Given the description of an element on the screen output the (x, y) to click on. 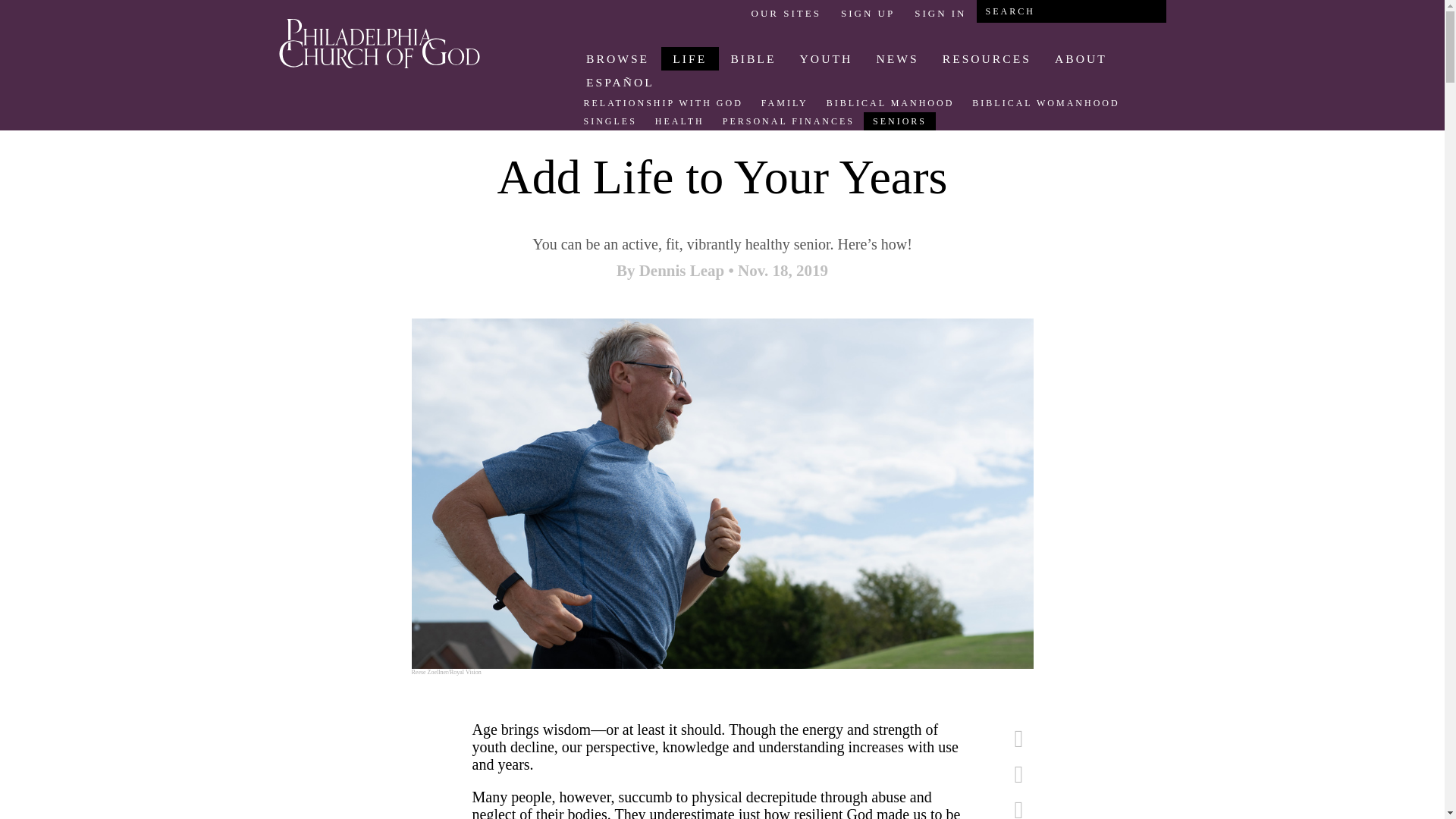
SIGN IN (939, 12)
YOUTH (825, 58)
BIBLE (753, 58)
ABOUT (1080, 58)
OUR SITES (786, 12)
NEWS (897, 58)
SIGN UP (867, 12)
LIFE (690, 58)
RESOURCES (986, 58)
BROWSE (618, 58)
